Given the description of an element on the screen output the (x, y) to click on. 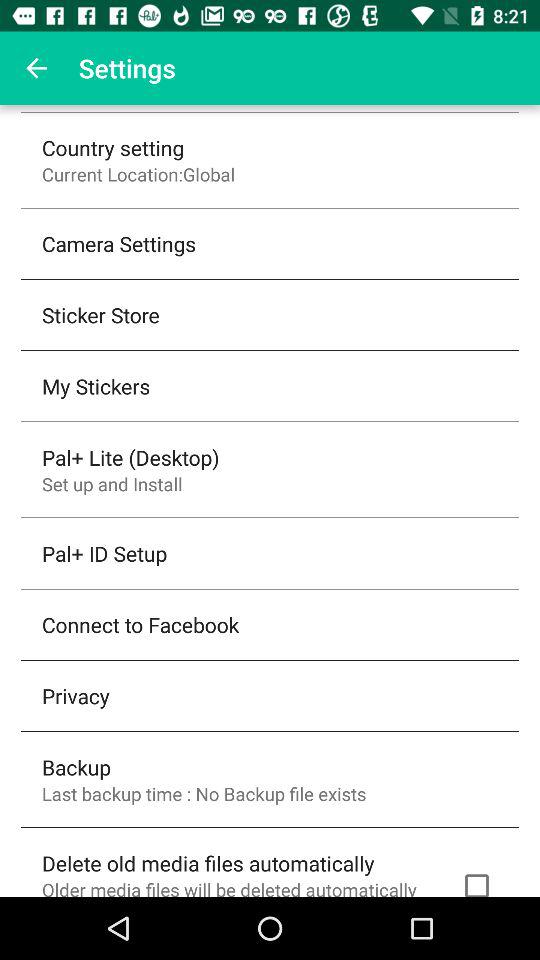
tap icon to the left of settings item (36, 68)
